Given the description of an element on the screen output the (x, y) to click on. 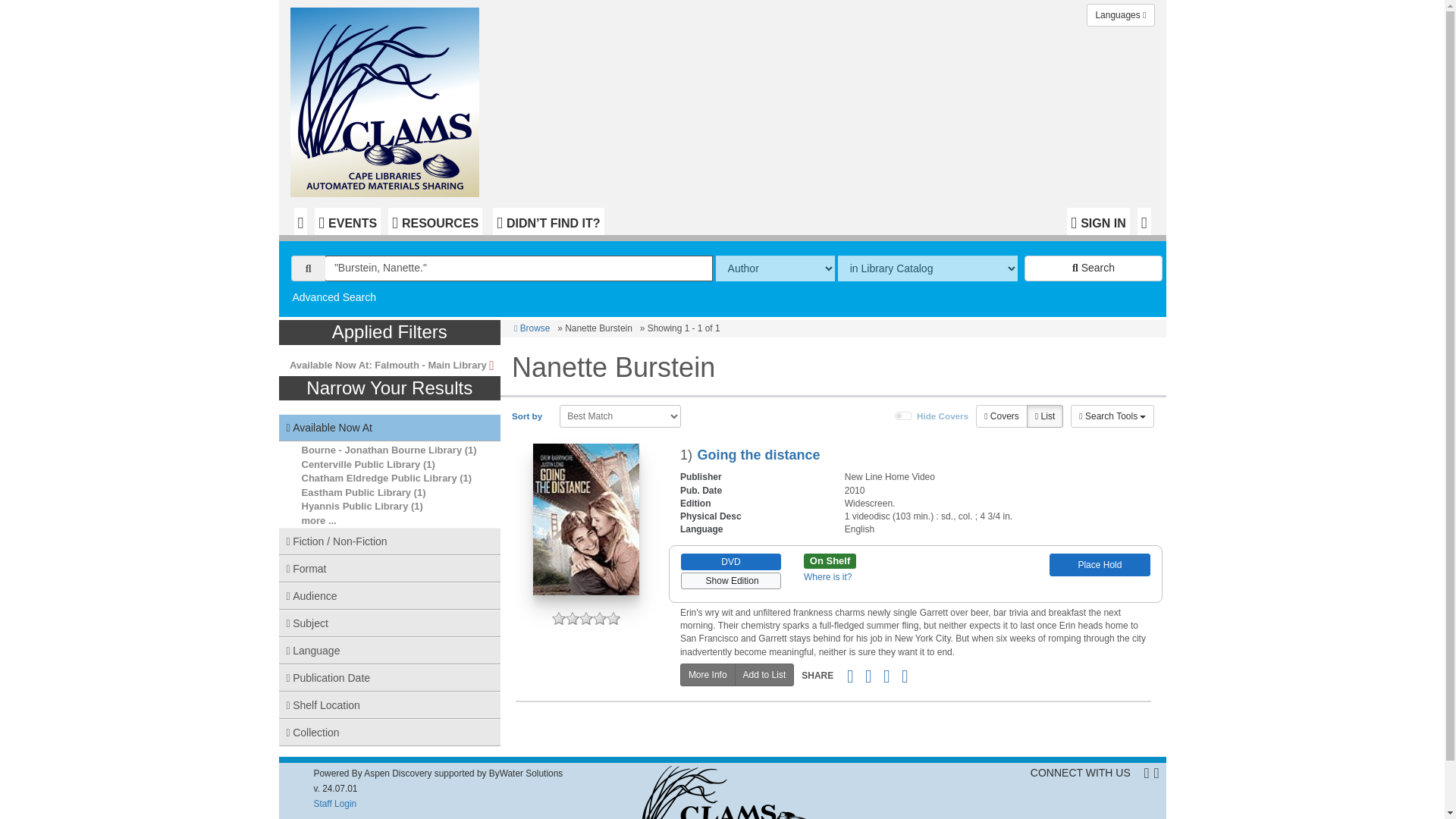
Login (1098, 221)
Languages  (1120, 15)
 Search (1093, 268)
"Burstein, Nanette." (518, 268)
on (903, 415)
The method of searching. (775, 268)
Return to Catalog Home (387, 98)
Bourne - Jonathan Bourne Library (382, 449)
Centerville Public Library (360, 464)
Advanced Search (334, 297)
EVENTS (347, 221)
Hyannis Public Library (355, 505)
Chatham Eldredge Public Library (379, 478)
SIGN IN (1098, 221)
